Given the description of an element on the screen output the (x, y) to click on. 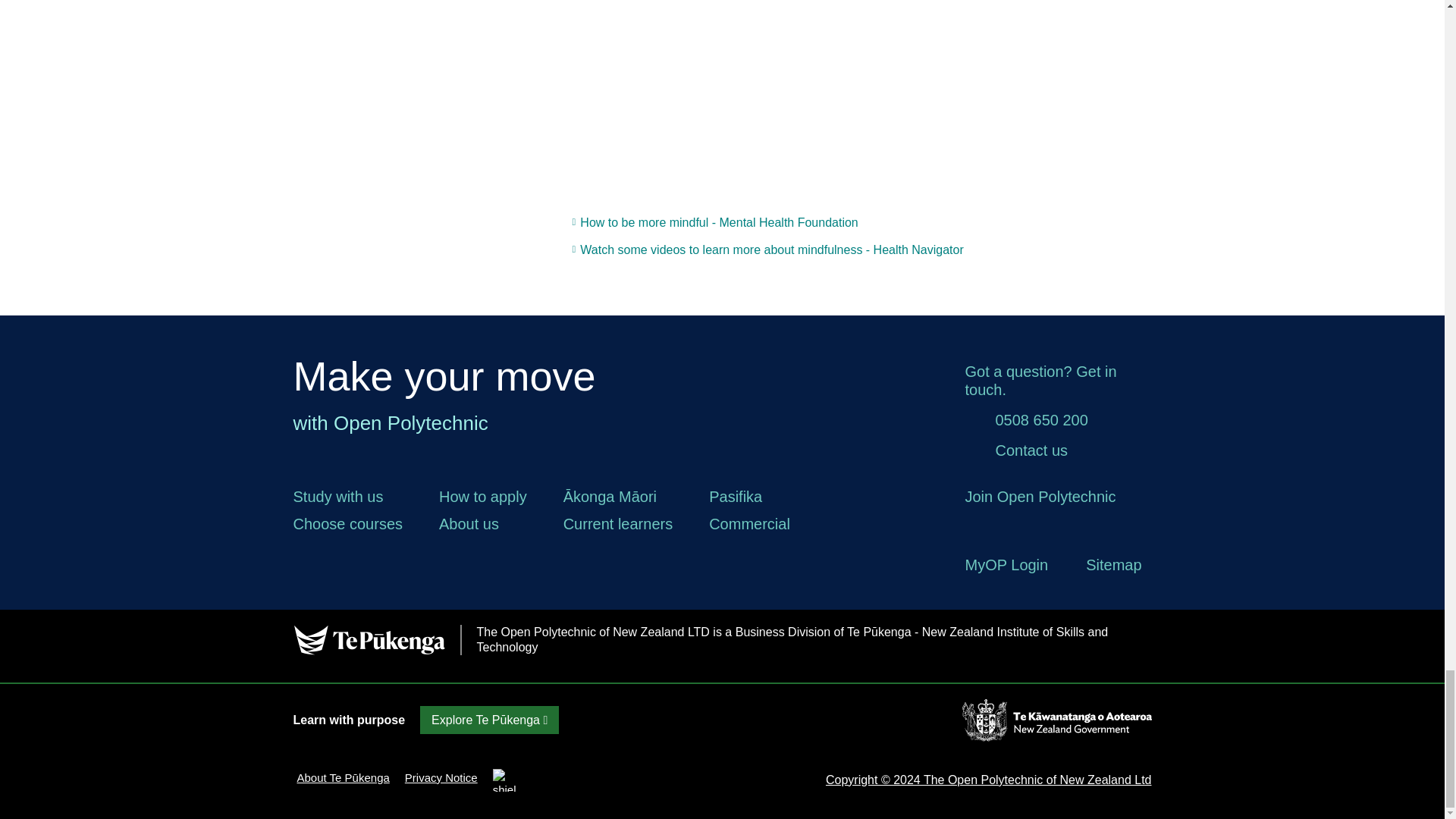
Go to Sitemap page. (1113, 564)
How to be more mindful - Mental Health Foundation (715, 222)
Mindfulness - Health Navigator (767, 249)
